Given the description of an element on the screen output the (x, y) to click on. 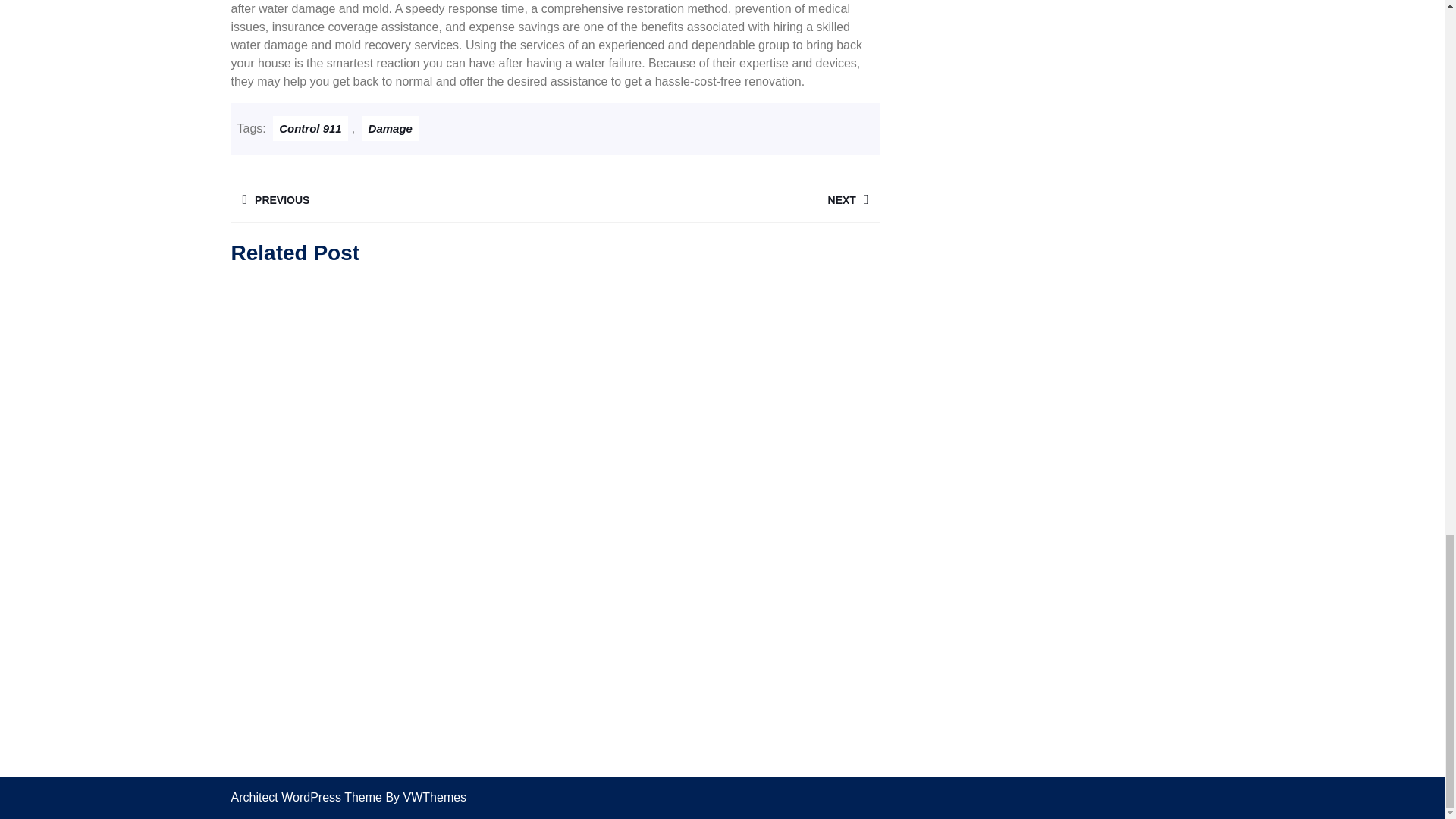
Control 911 (310, 127)
Damage (392, 199)
